Given the description of an element on the screen output the (x, y) to click on. 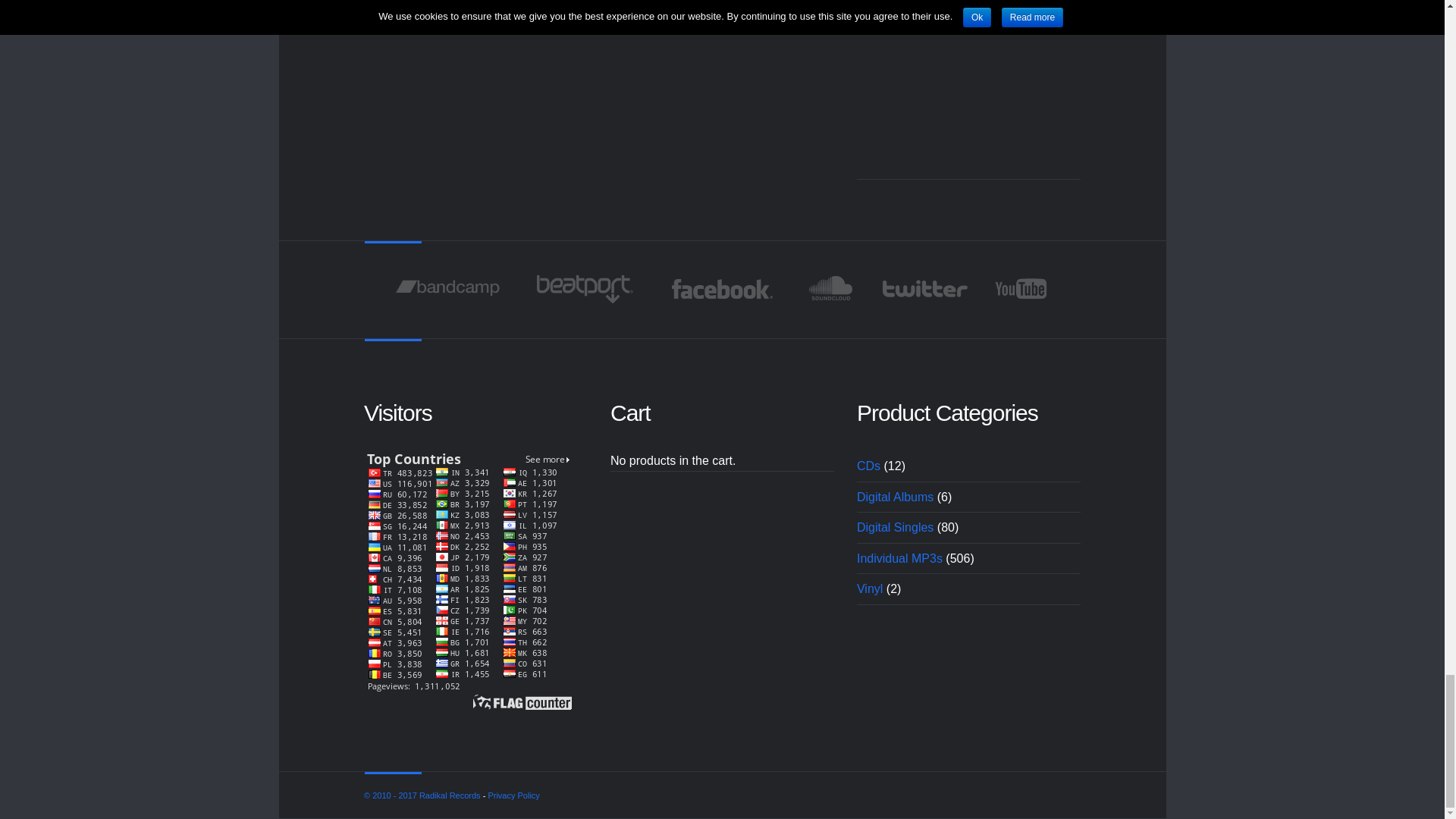
Beatport (585, 288)
Bandcamp (447, 288)
Contact (968, 86)
Facebook (722, 288)
